Given the description of an element on the screen output the (x, y) to click on. 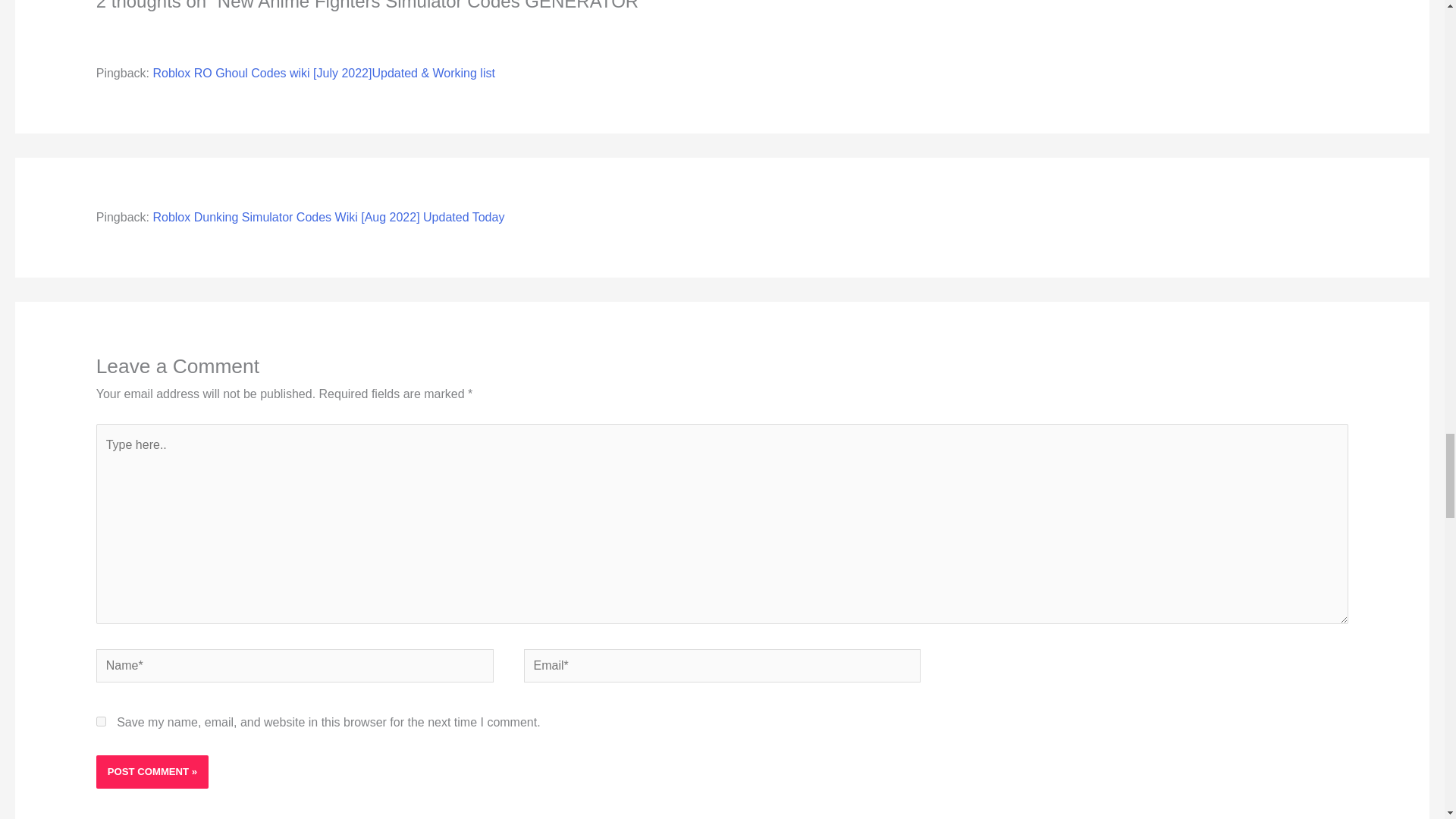
yes (101, 721)
